Given the description of an element on the screen output the (x, y) to click on. 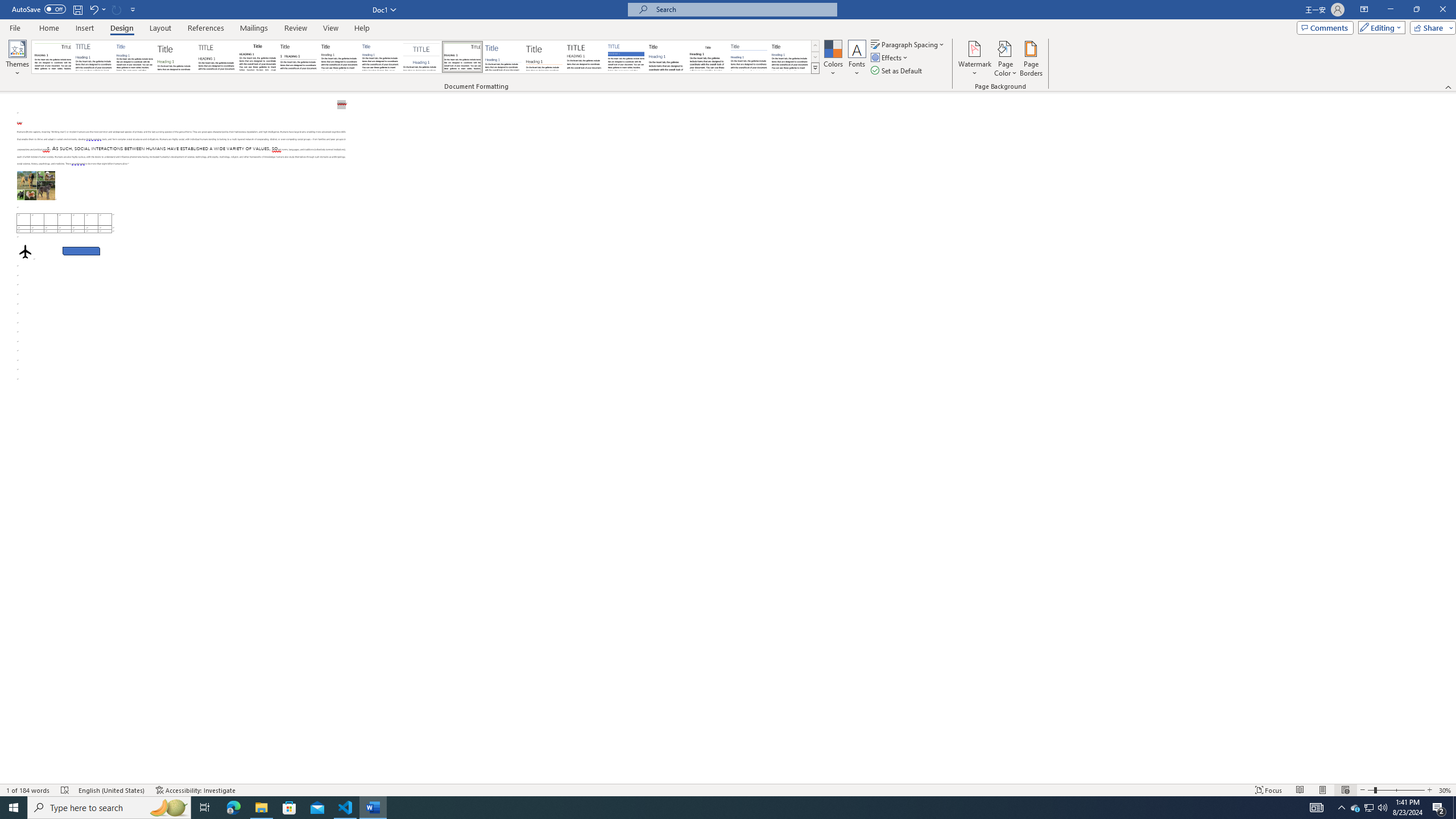
Basic (Simple) (135, 56)
Word 2003 (707, 56)
Word 2013 (790, 56)
Spelling and Grammar Check Errors (65, 790)
Page Borders... (1031, 58)
